Given the description of an element on the screen output the (x, y) to click on. 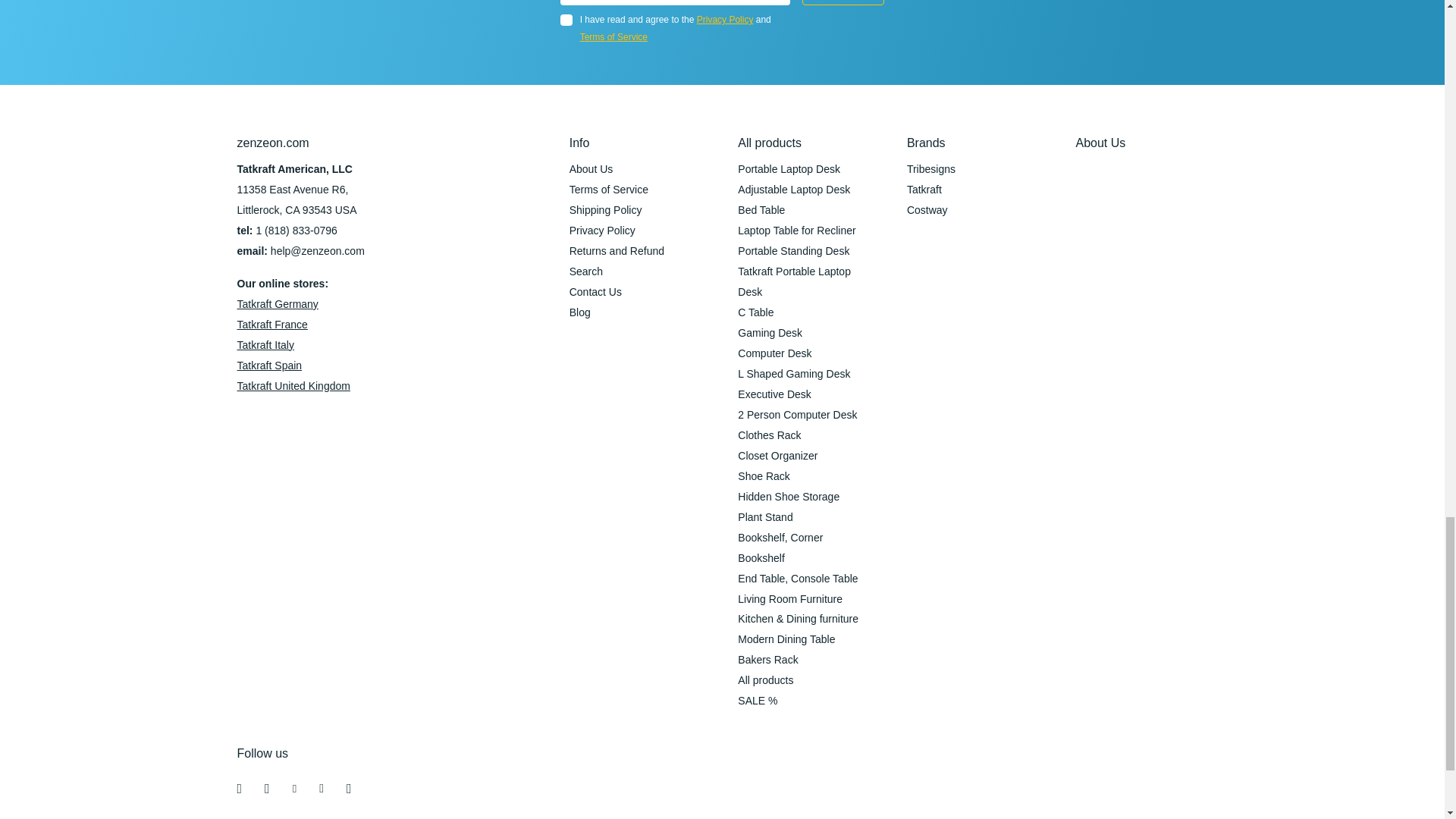
Blog (580, 312)
TatkraftShop.it (264, 345)
Portable Laptop Desk (789, 168)
Search (585, 271)
Returns and Refund (616, 250)
Adjustable Laptop Desk (794, 189)
Contact Us (595, 291)
Laptop Table for Recliner (797, 230)
TatkraftShop.es (268, 365)
Privacy Policy (725, 19)
